Given the description of an element on the screen output the (x, y) to click on. 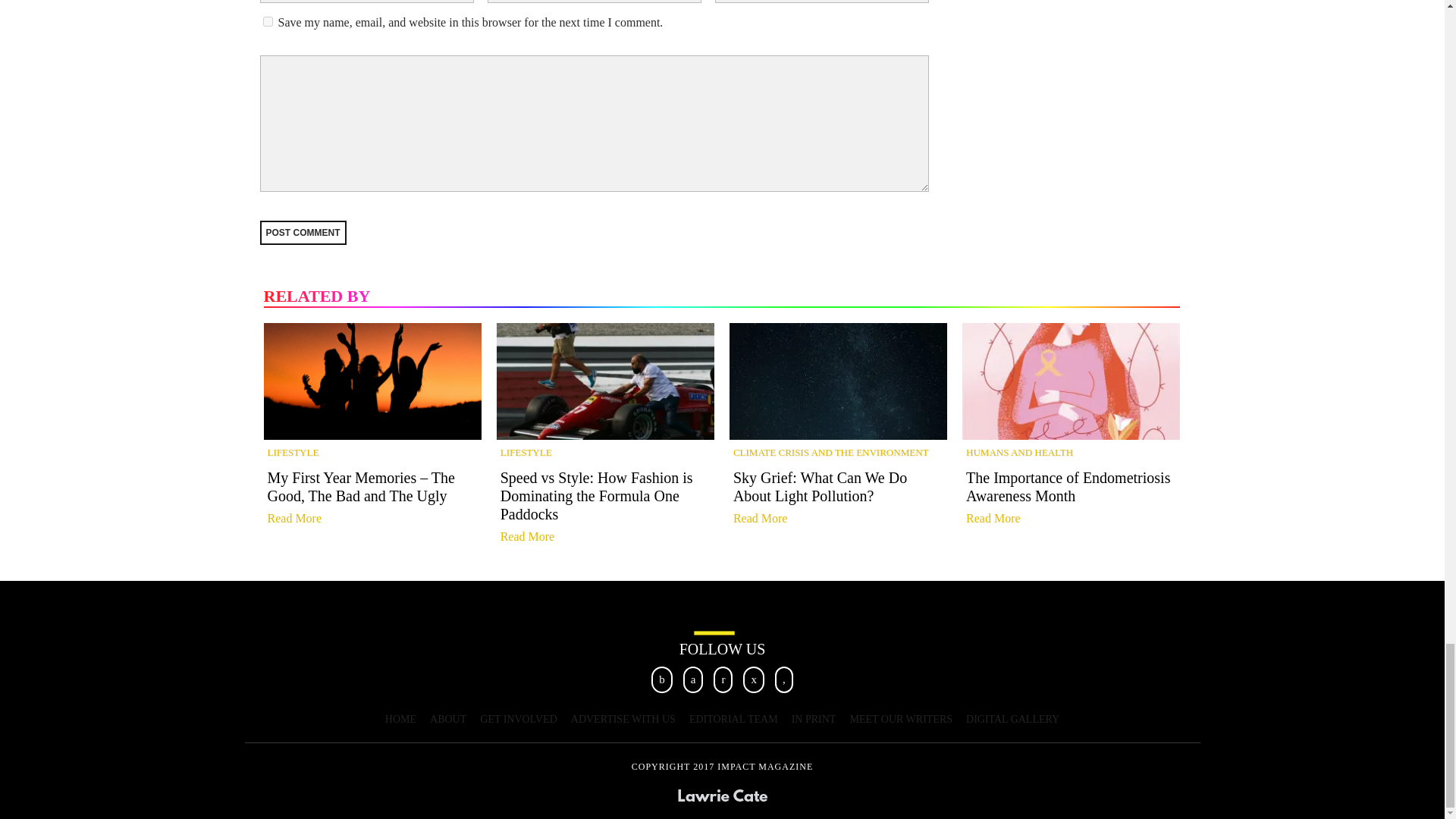
yes (267, 21)
Post comment (302, 232)
